Given the description of an element on the screen output the (x, y) to click on. 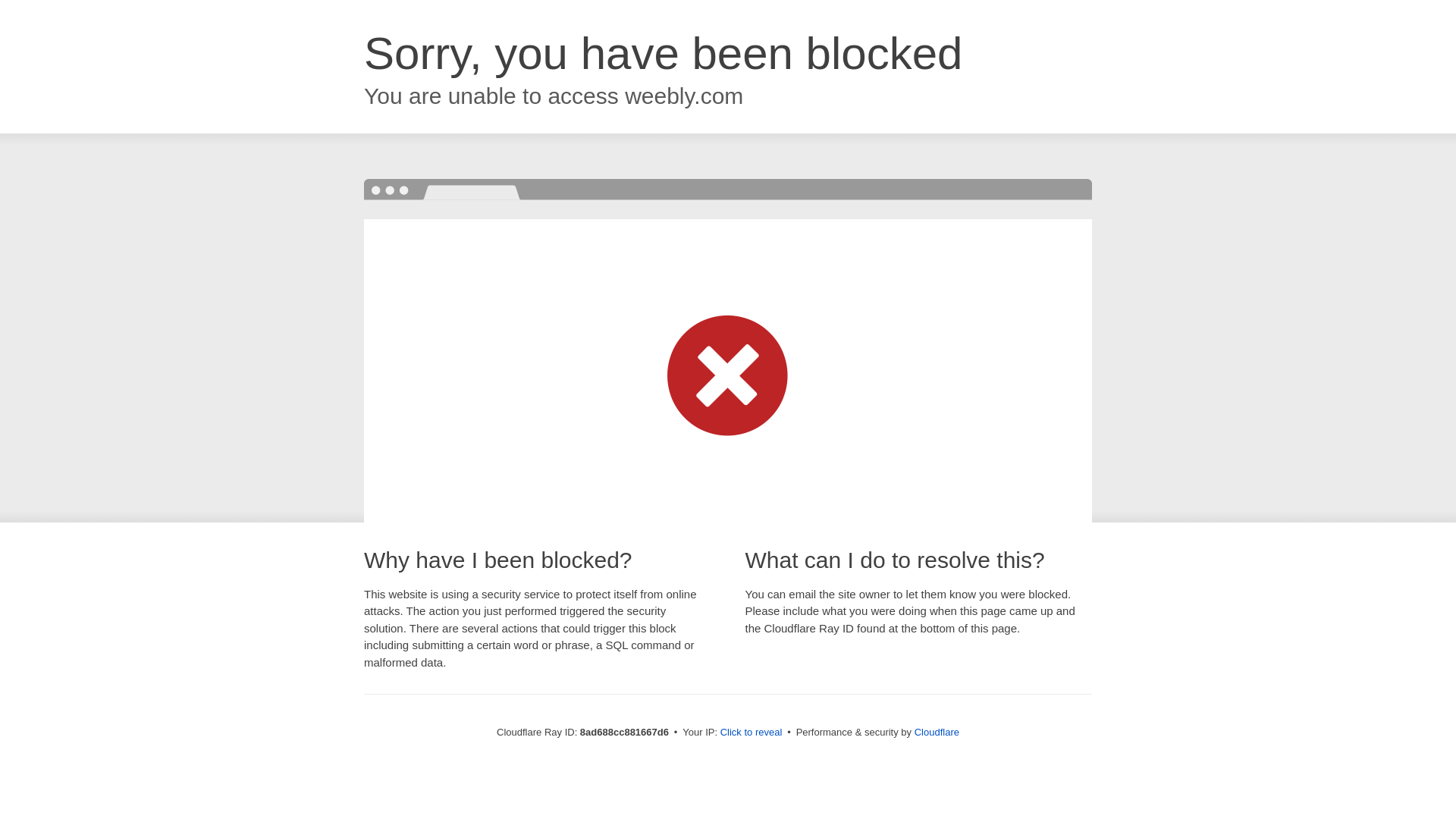
Click to reveal (751, 732)
Cloudflare (936, 731)
